Given the description of an element on the screen output the (x, y) to click on. 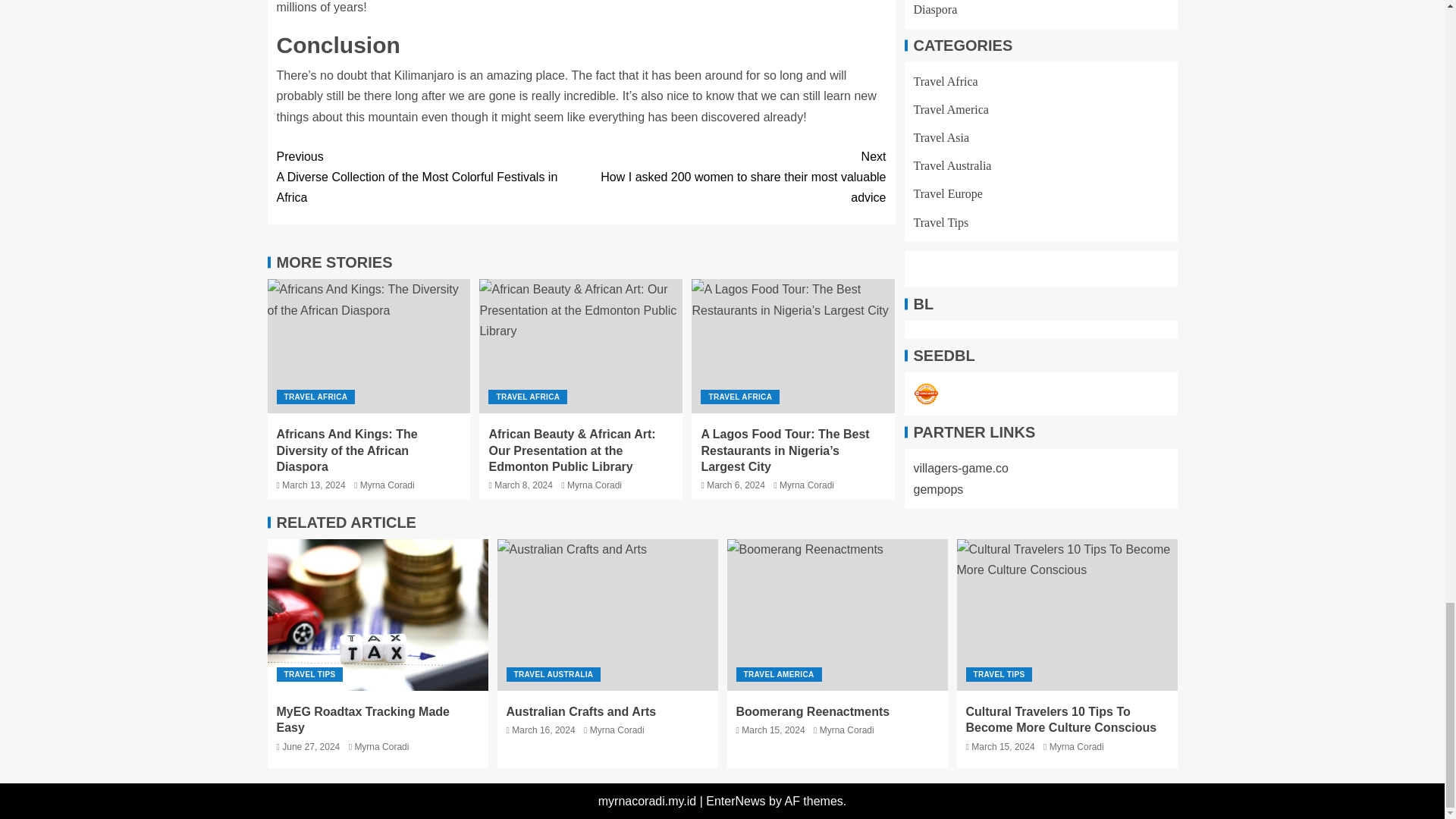
Africans And Kings: The Diversity of the African Diaspora (368, 346)
TRAVEL AFRICA (315, 396)
